Given the description of an element on the screen output the (x, y) to click on. 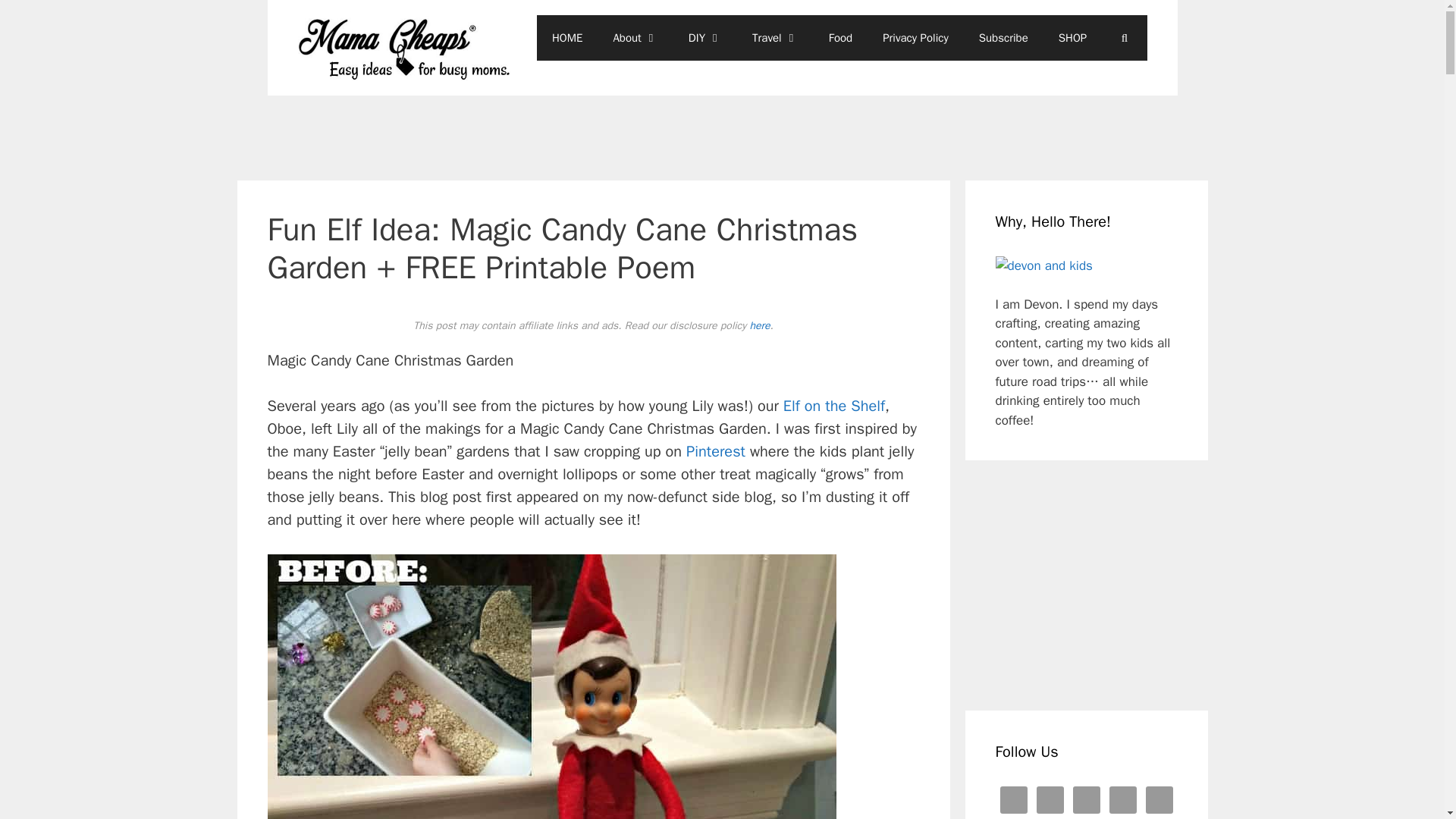
Food (840, 37)
here (759, 325)
Privacy Policy (915, 37)
About (634, 37)
DIY (704, 37)
Elf on the Shelf (834, 405)
SHOP (1072, 37)
Subscribe (1003, 37)
HOME (566, 37)
Travel (774, 37)
